Given the description of an element on the screen output the (x, y) to click on. 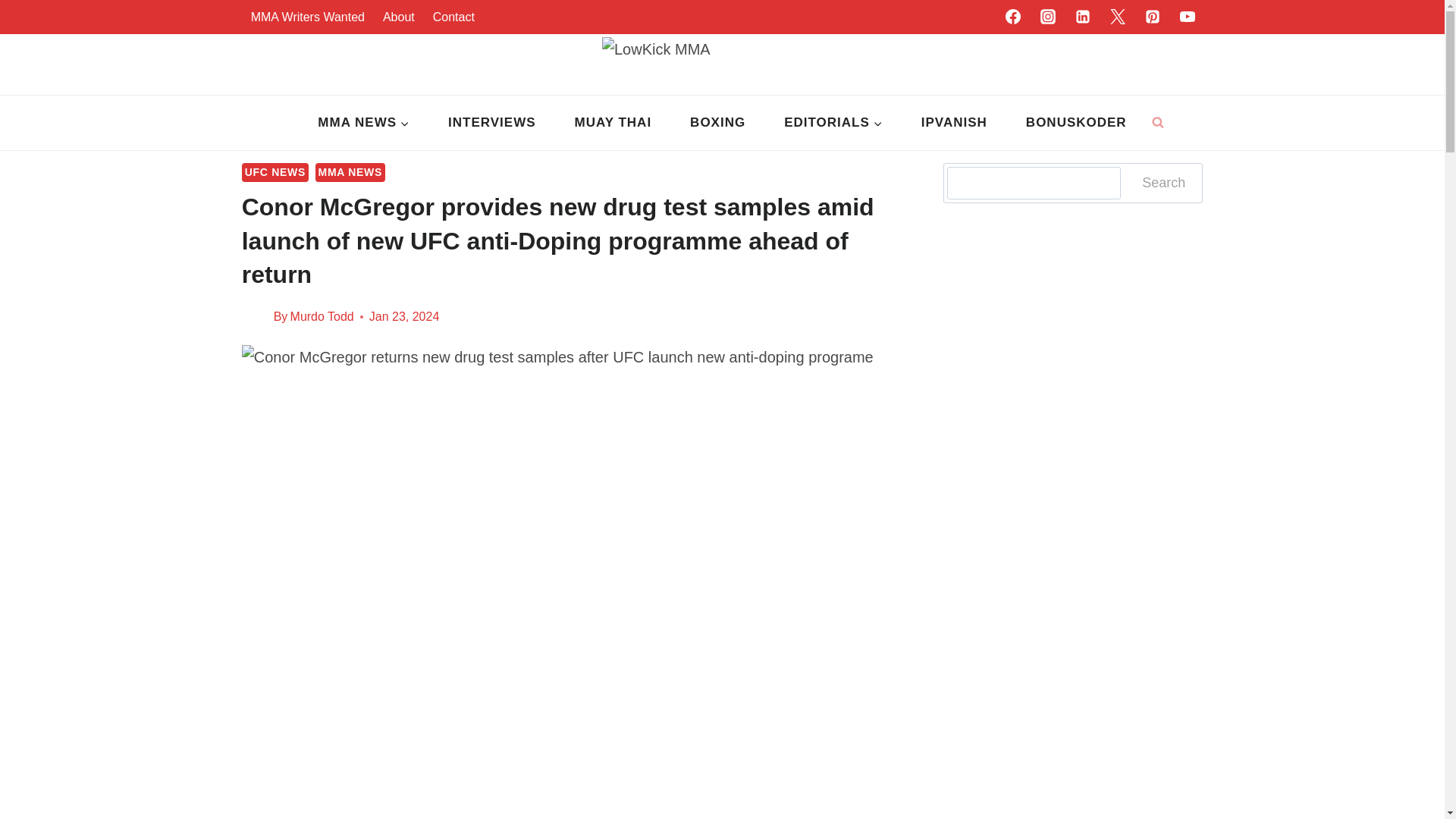
MUAY THAI (612, 122)
Contact (453, 17)
MMA Writers Wanted (307, 17)
MMA NEWS (363, 122)
EDITORIALS (833, 122)
IPVANISH (953, 122)
About (398, 17)
BOXING (718, 122)
